Given the description of an element on the screen output the (x, y) to click on. 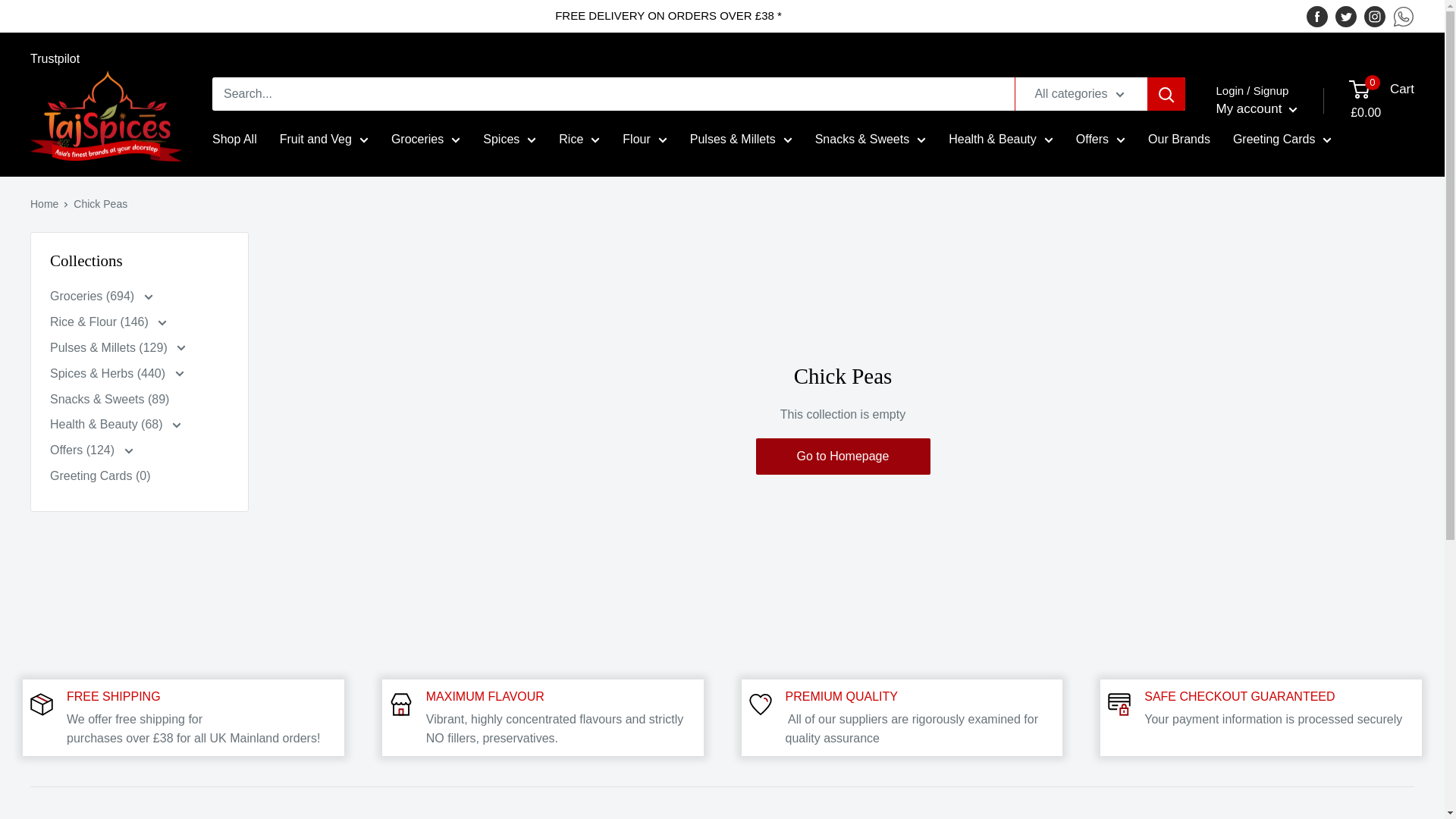
Trustpilot (55, 58)
